Given the description of an element on the screen output the (x, y) to click on. 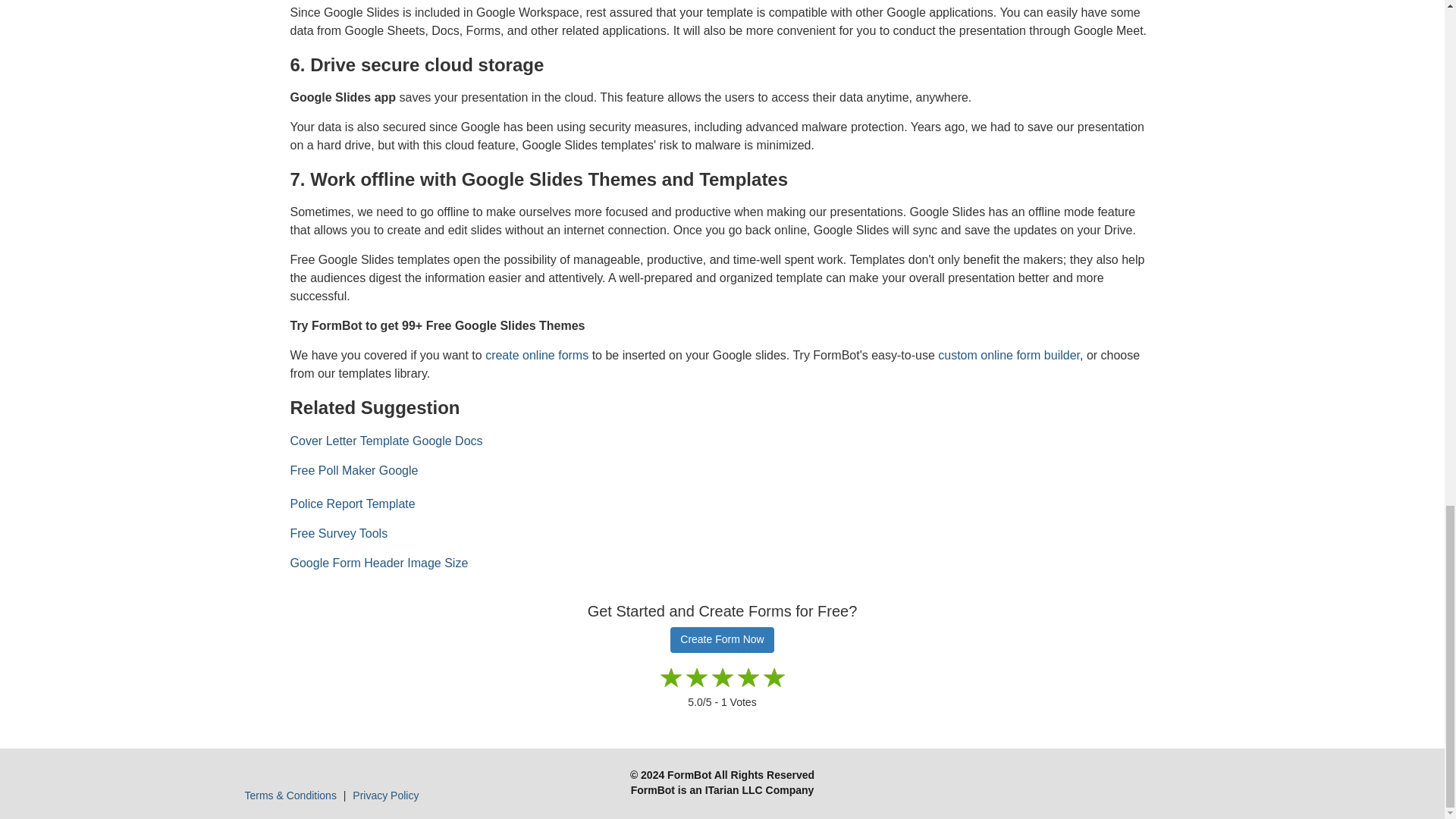
Create Form Now (721, 639)
Free Survey Tools (338, 533)
custom online form builder (1008, 354)
create online forms (536, 354)
Privacy Policy (385, 795)
Police Report Template (351, 503)
Cover Letter Template Google Docs (385, 440)
Google Form Header Image Size (378, 562)
Free Poll Maker Google (353, 470)
